Given the description of an element on the screen output the (x, y) to click on. 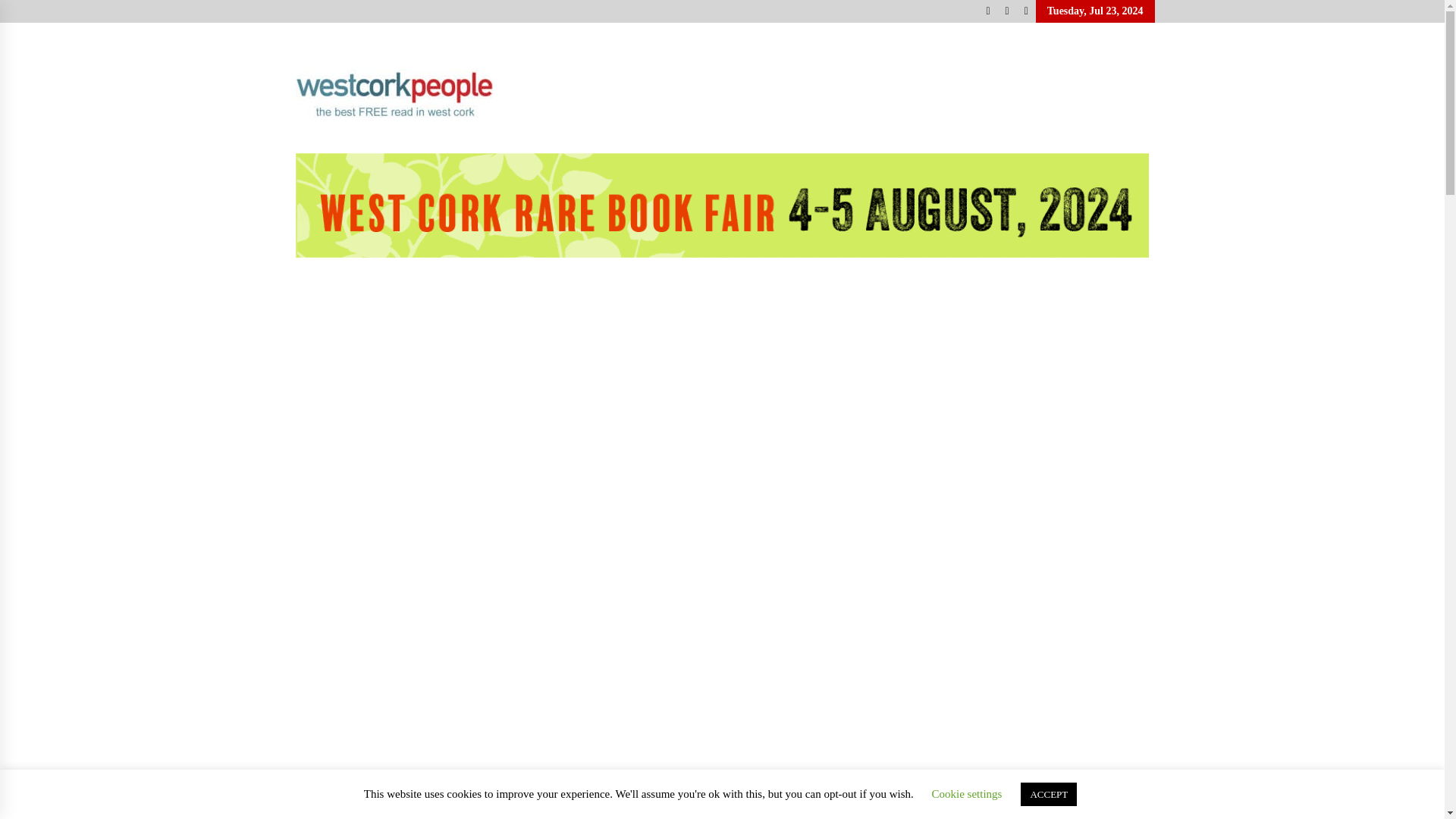
West Cork People (823, 142)
Inanna-book--fair-web-banner (721, 206)
